Given the description of an element on the screen output the (x, y) to click on. 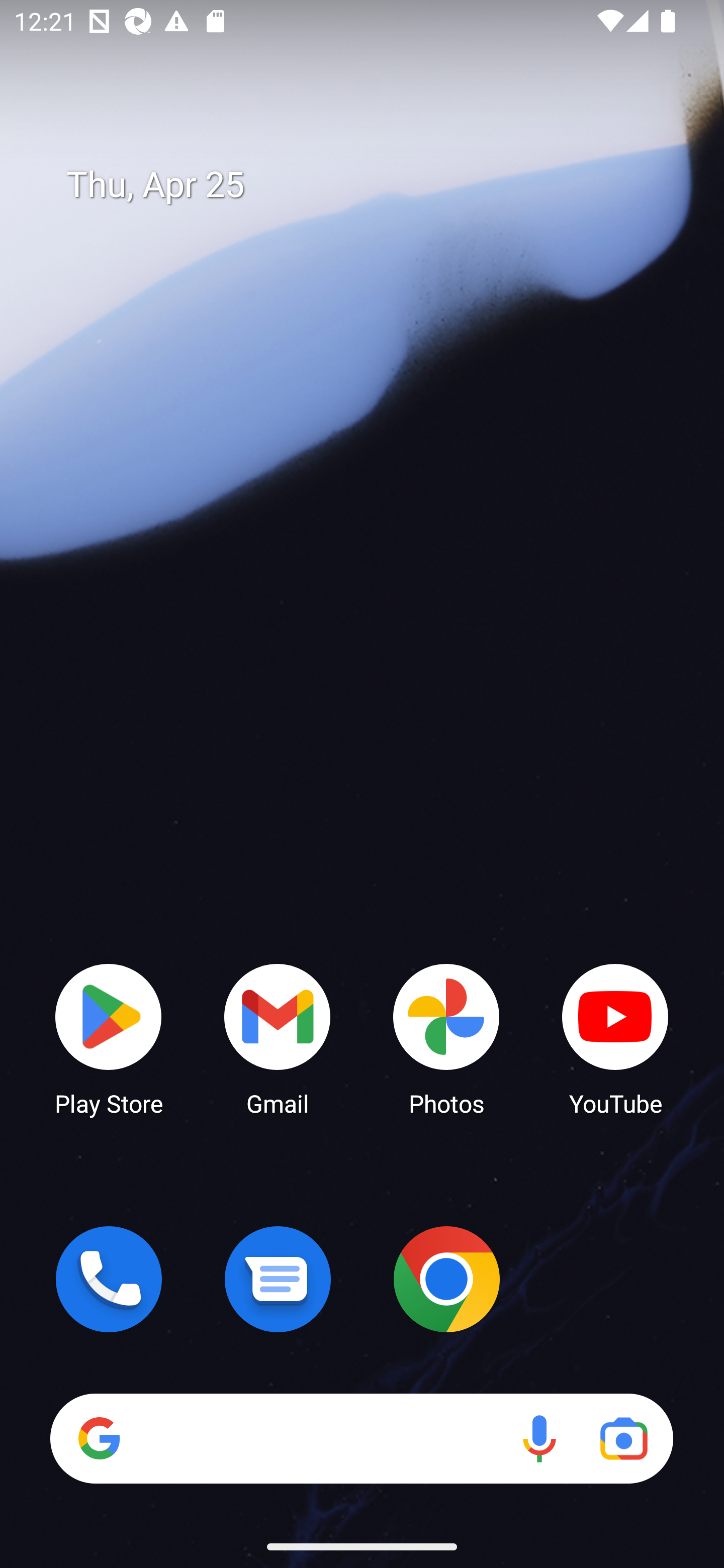
Thu, Apr 25 (375, 184)
Play Store (108, 1038)
Gmail (277, 1038)
Photos (445, 1038)
YouTube (615, 1038)
Phone (108, 1279)
Messages (277, 1279)
Chrome (446, 1279)
Search Voice search Google Lens (361, 1438)
Voice search (539, 1438)
Google Lens (623, 1438)
